Given the description of an element on the screen output the (x, y) to click on. 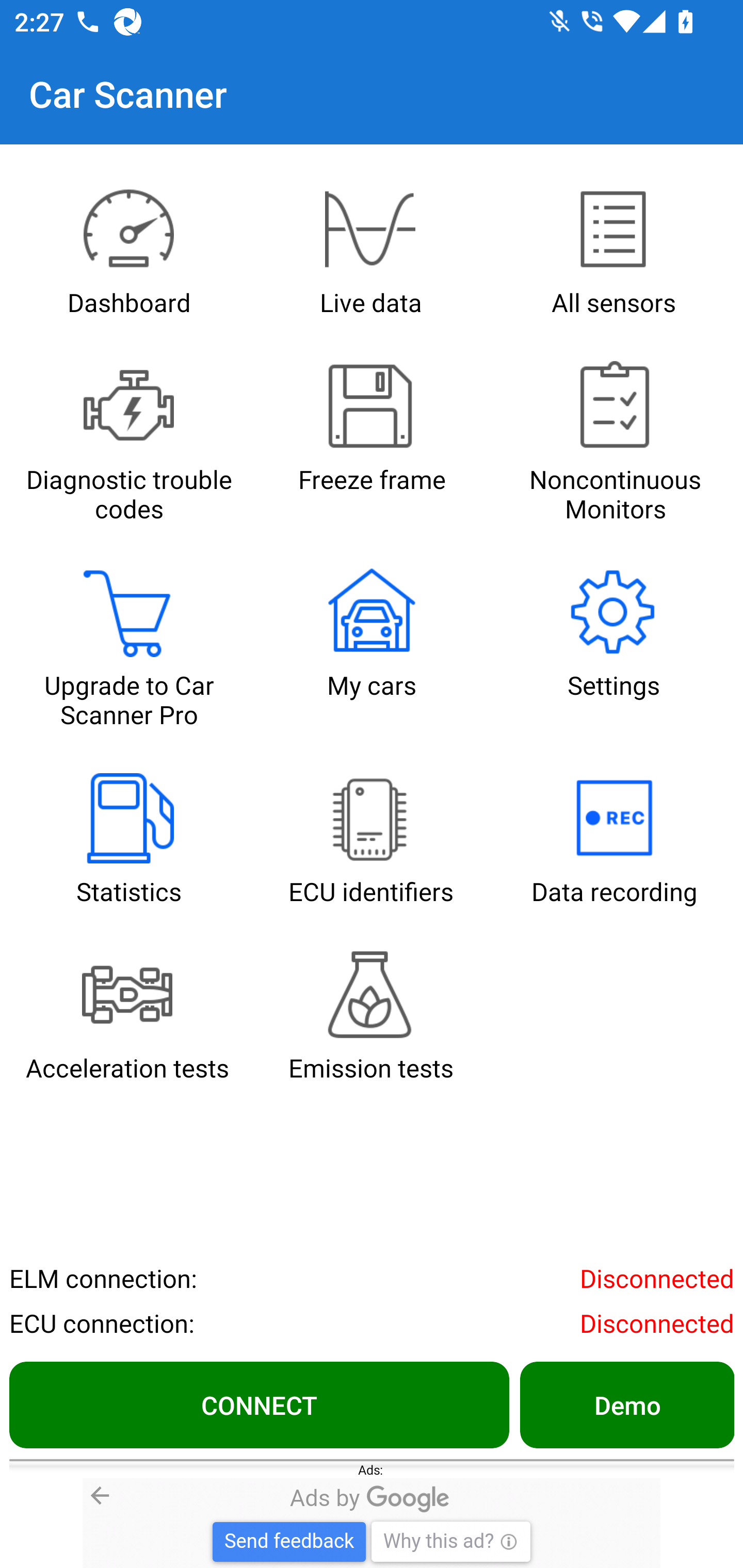
CONNECT (258, 1404)
Demo (627, 1404)
